Given the description of an element on the screen output the (x, y) to click on. 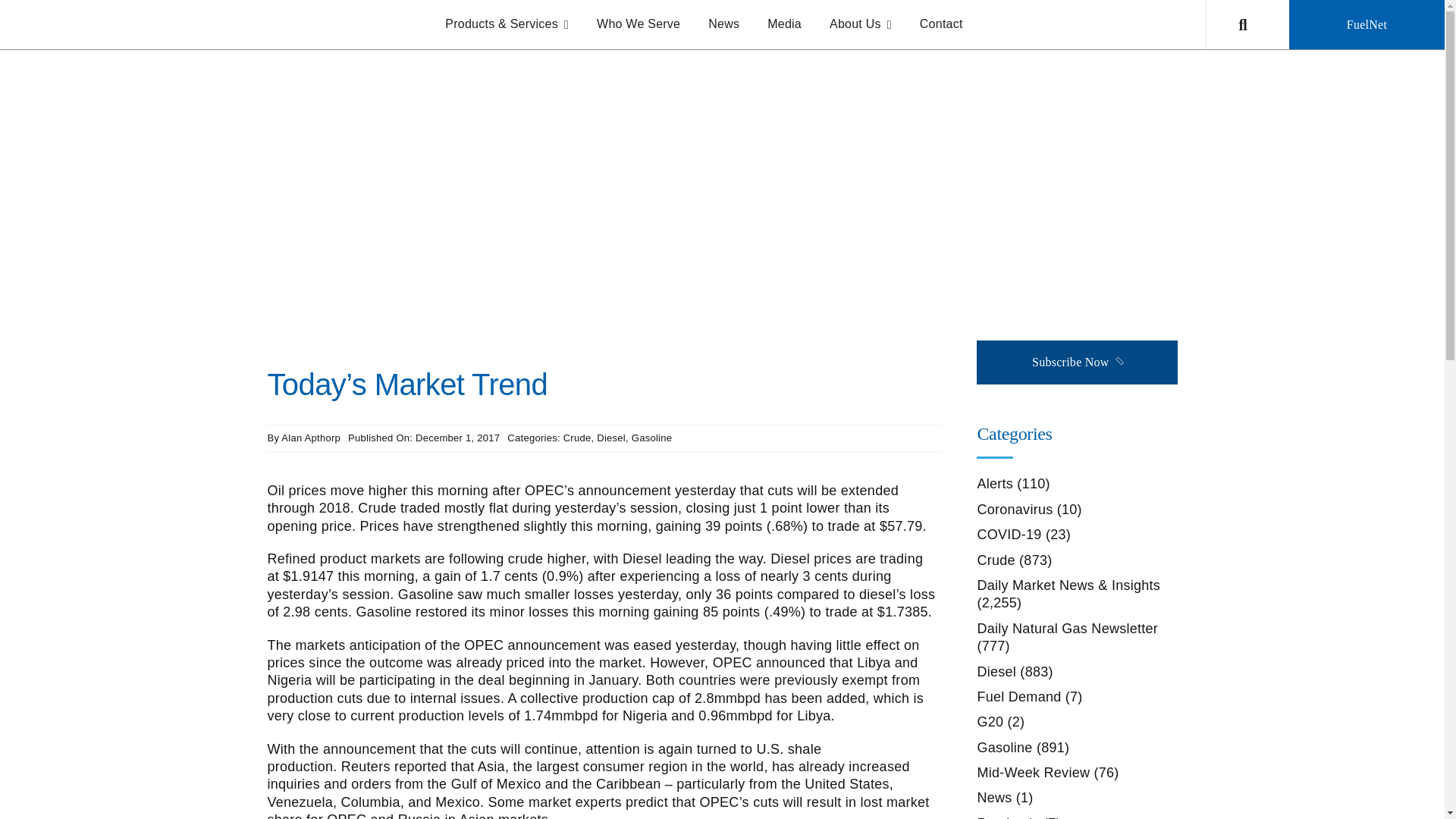
fn-icon (1018, 144)
Media (784, 24)
Posts by Alan Apthorp (310, 437)
Contact (940, 24)
12-1-2017 9-47-42 AM (453, 219)
News (724, 24)
About Us (860, 24)
ngn-icon (1094, 144)
Who We Serve (638, 24)
